Given the description of an element on the screen output the (x, y) to click on. 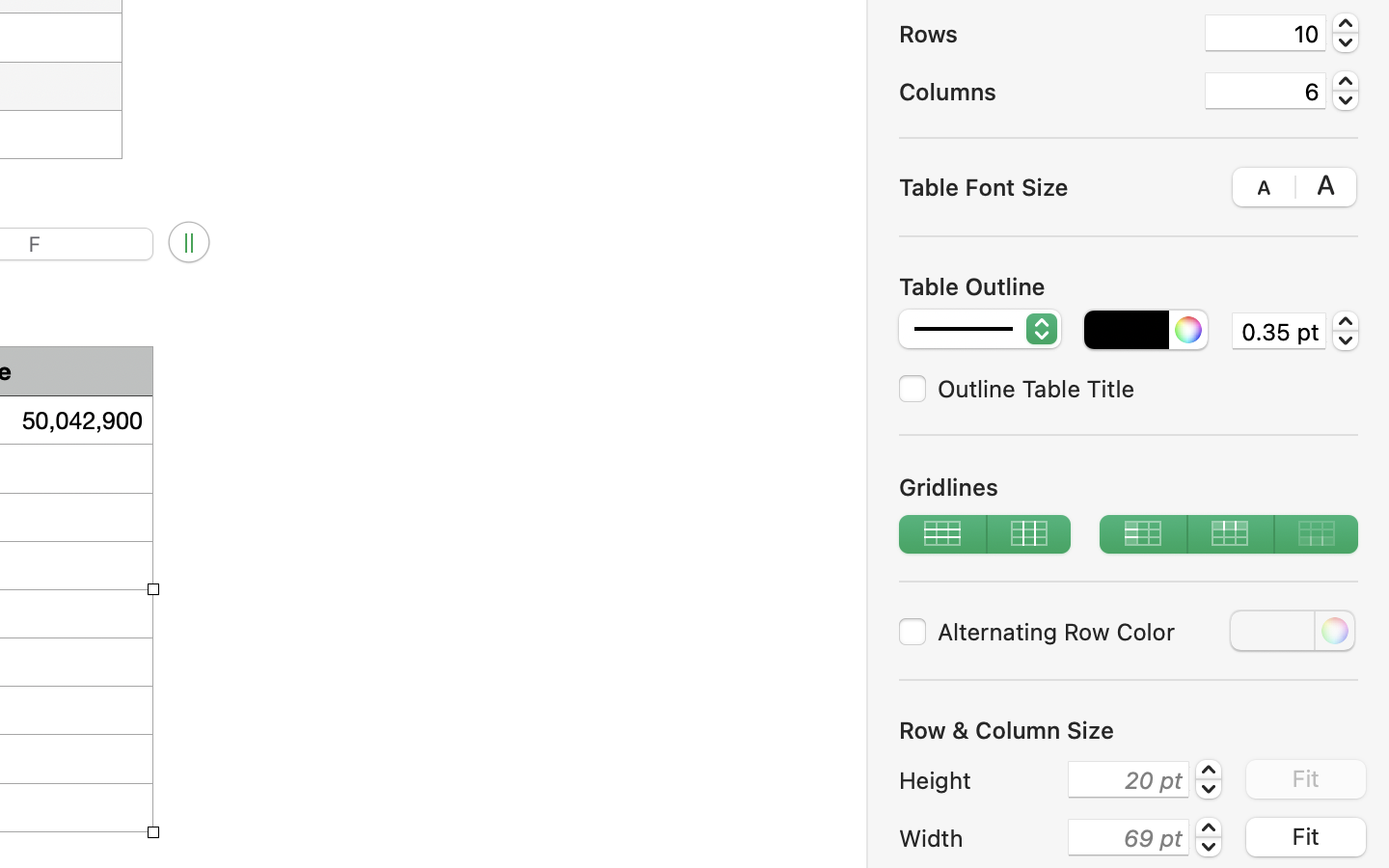
20 pt Element type: AXTextField (1128, 778)
Table Font Size Element type: AXStaticText (983, 185)
10.0 Element type: AXIncrementor (1345, 32)
Rows Element type: AXStaticText (1043, 33)
Width Element type: AXStaticText (978, 837)
